Given the description of an element on the screen output the (x, y) to click on. 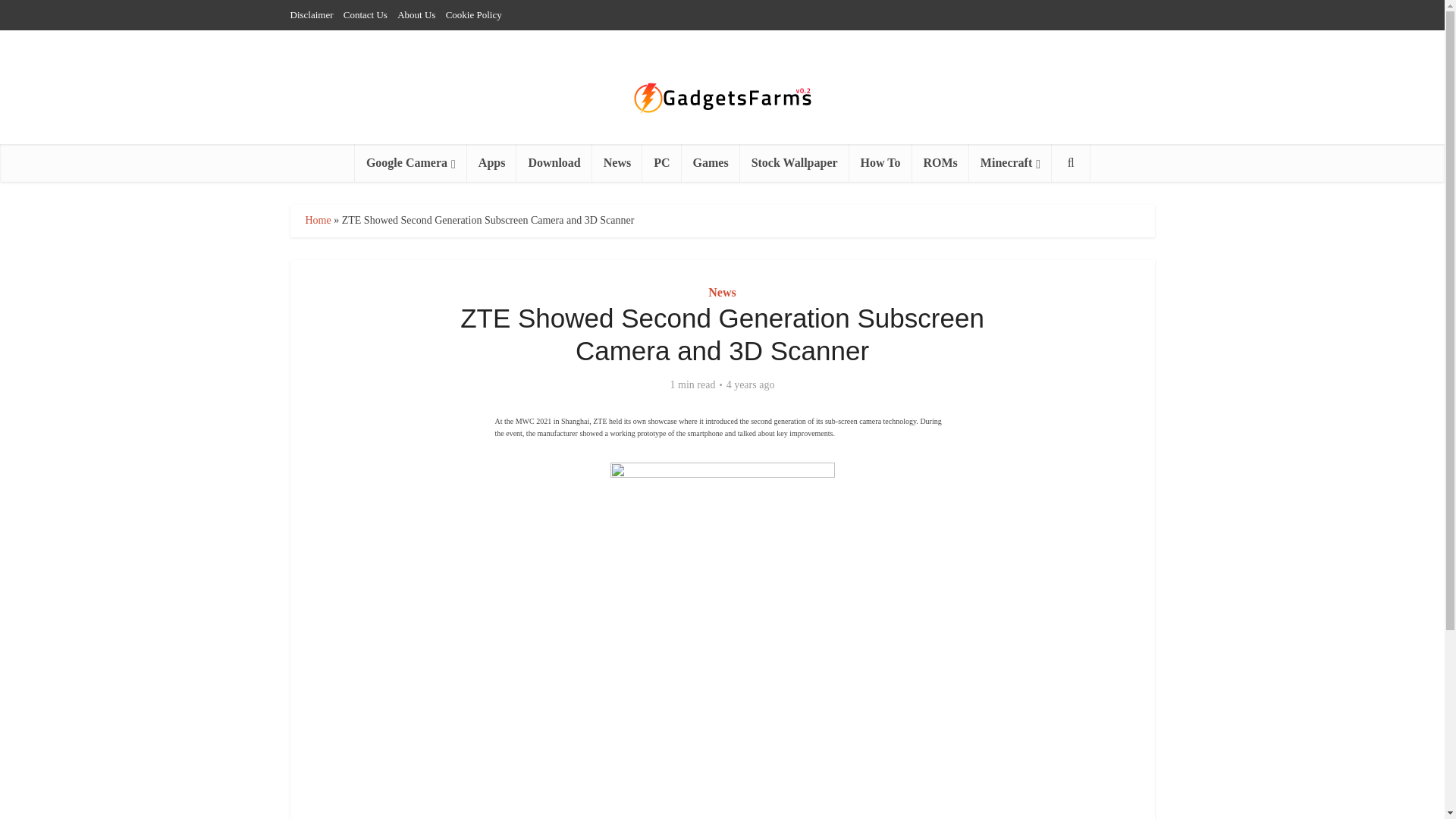
Download (553, 162)
Contact Us (365, 14)
ROMs (940, 162)
Disclaimer (311, 14)
Cookie Policy (473, 14)
News (617, 162)
News (721, 291)
Games (710, 162)
Google Camera (411, 162)
How To (880, 162)
